Given the description of an element on the screen output the (x, y) to click on. 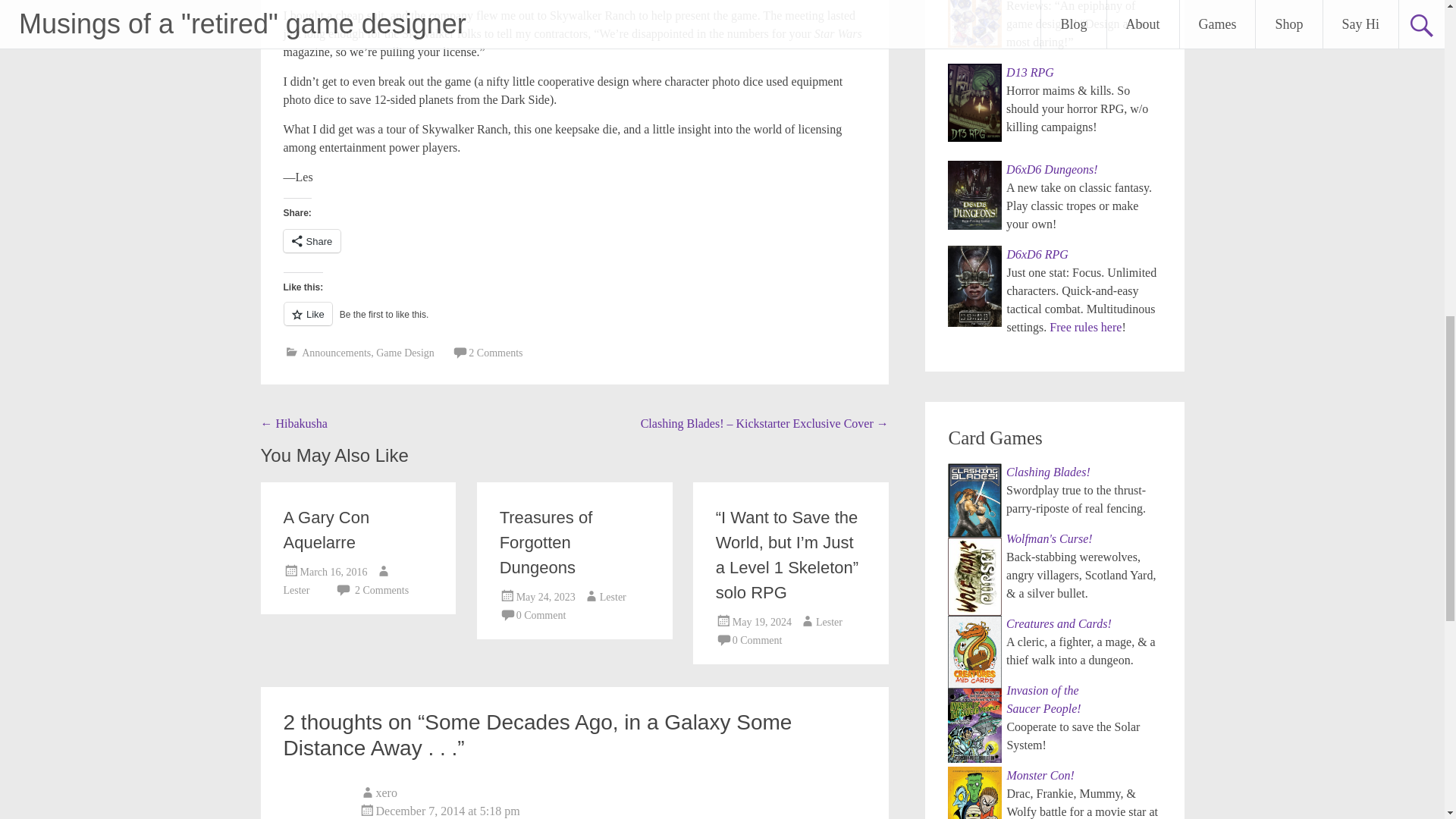
Share (311, 241)
Game Design (404, 352)
2 Comments (495, 352)
Like or Reblog (574, 322)
A Gary Con Aquelarre (326, 529)
Announcements (336, 352)
Treasures of Forgotten Dungeons (545, 542)
